Given the description of an element on the screen output the (x, y) to click on. 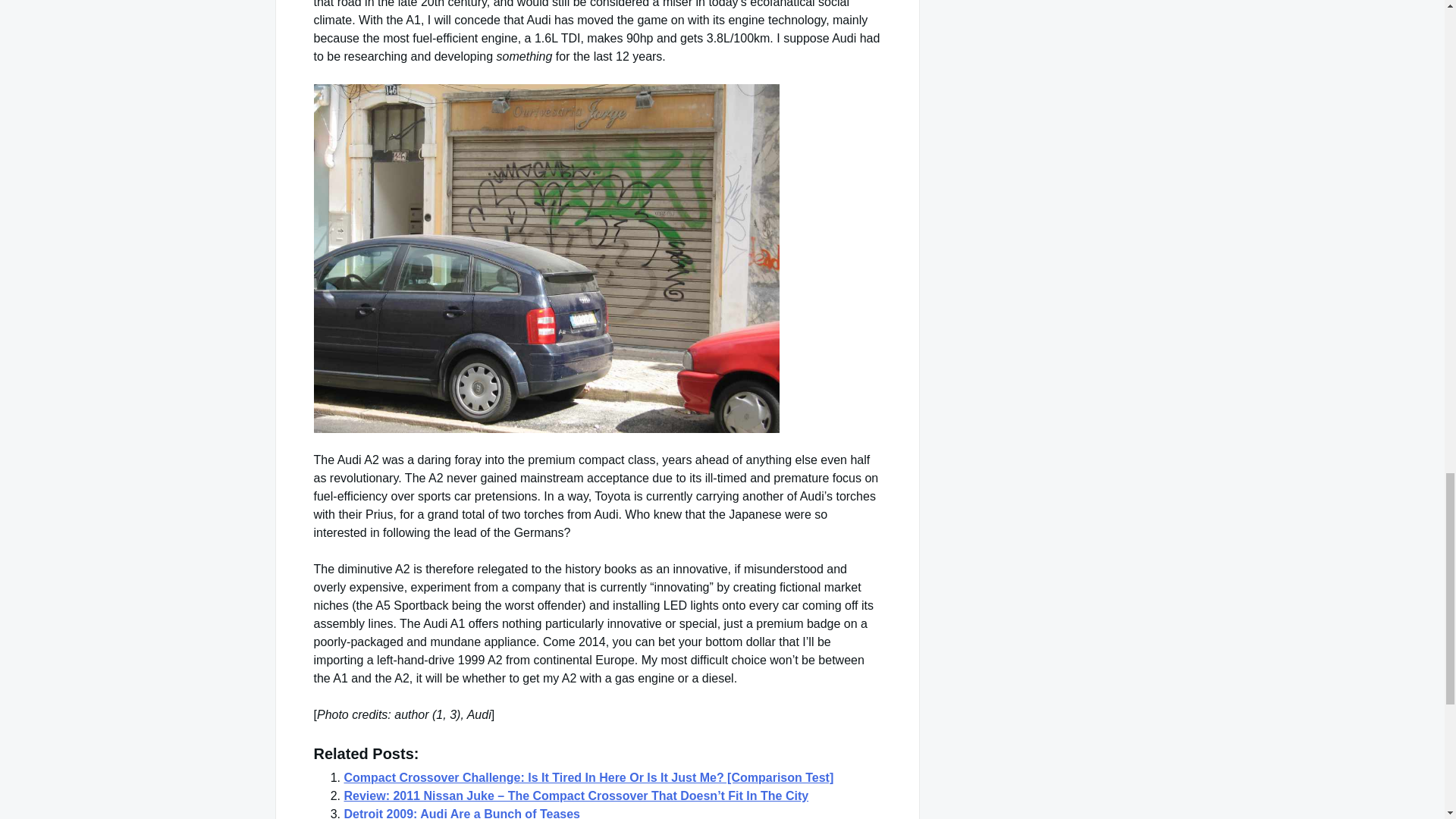
Detroit 2009: Audi Are a Bunch of Teases (461, 813)
Detroit 2009: Audi Are a Bunch of Teases (461, 813)
